Given the description of an element on the screen output the (x, y) to click on. 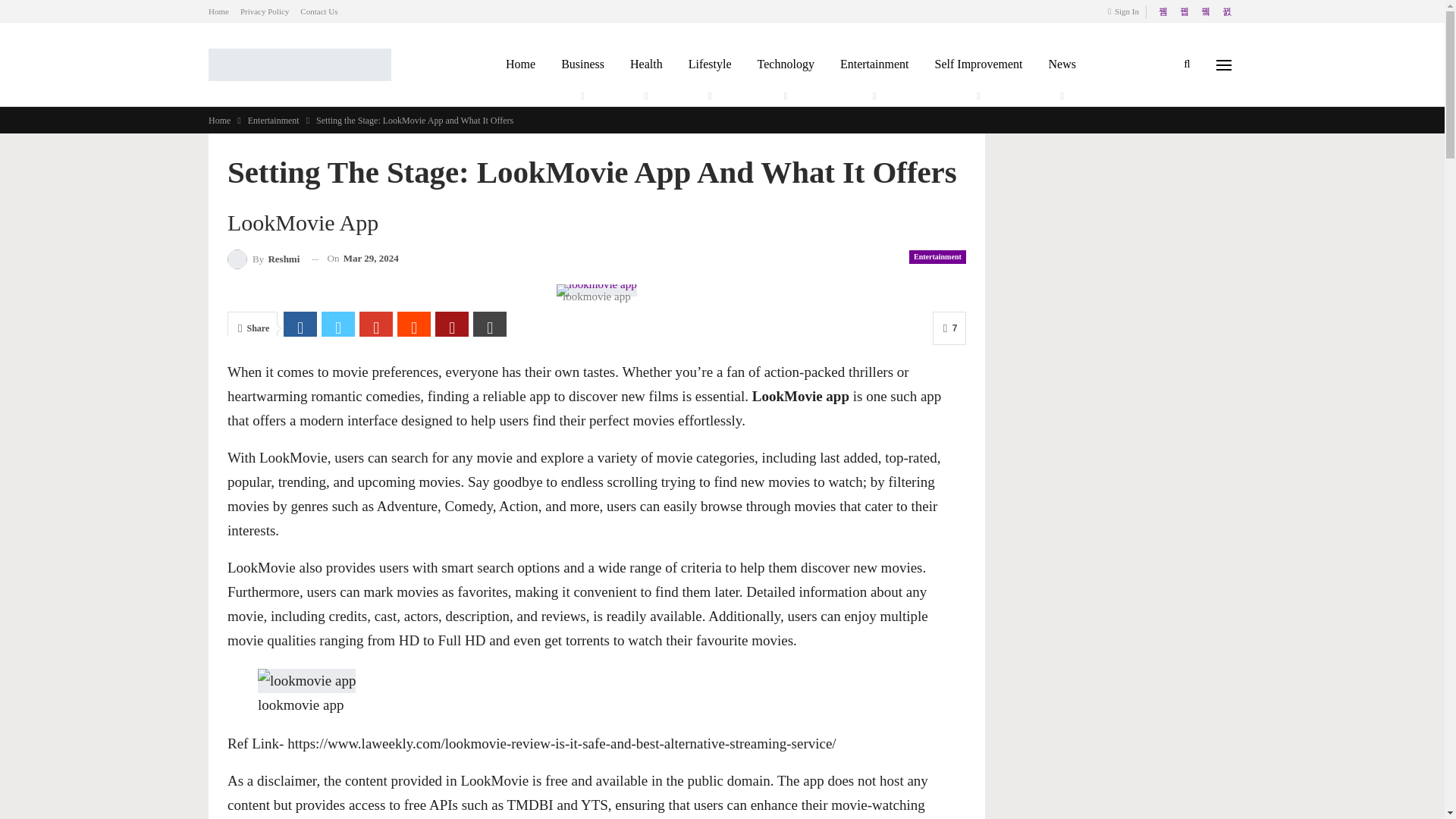
Browse Author Articles (263, 258)
Technology (786, 64)
Privacy Policy (264, 10)
Sign In (1126, 11)
Contact Us (318, 10)
Home (218, 10)
